Given the description of an element on the screen output the (x, y) to click on. 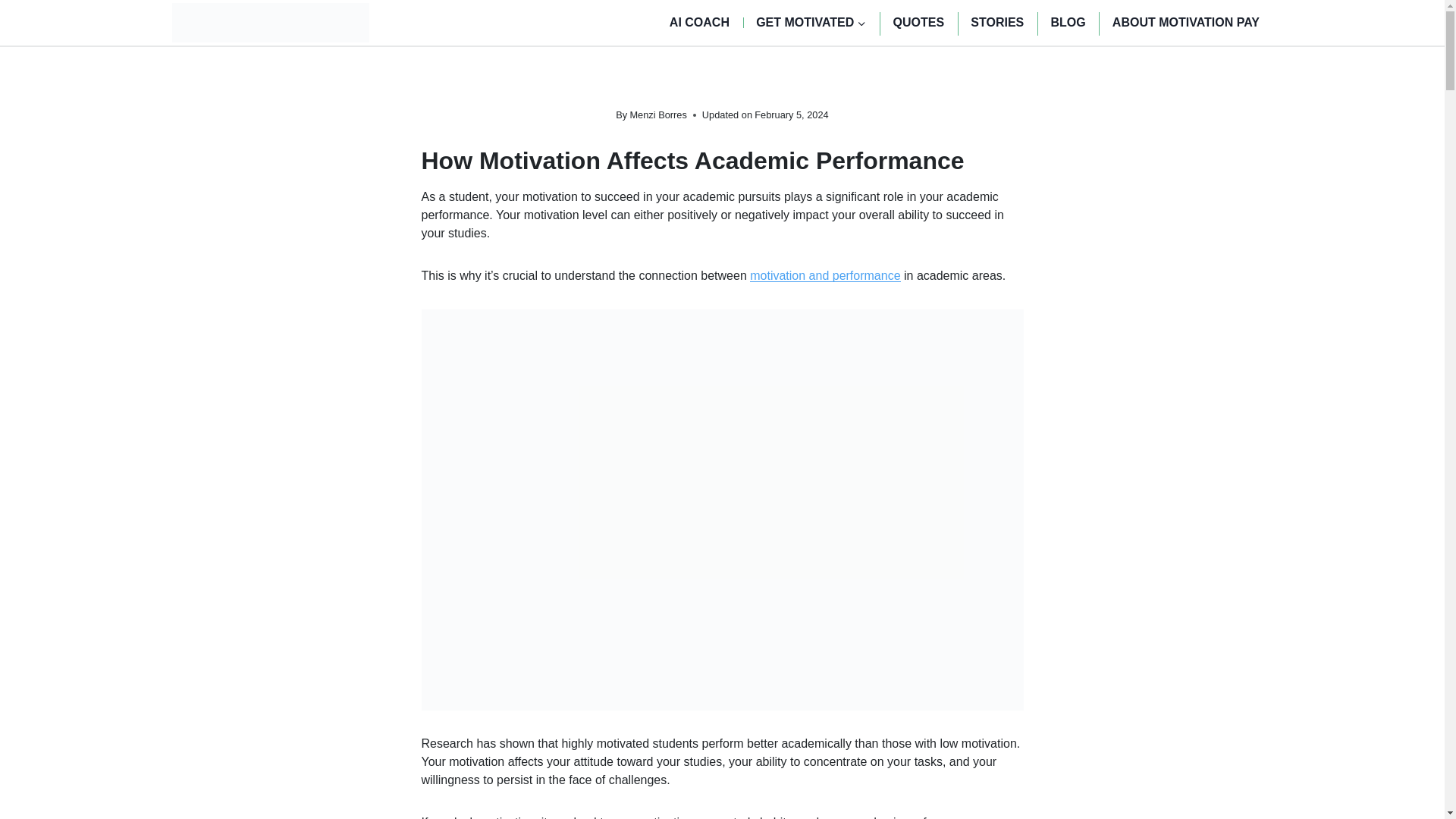
STORIES (997, 22)
BLOG (1067, 22)
motivation and performance (824, 275)
ABOUT MOTIVATION PAY (1185, 22)
AI COACH (699, 22)
GET MOTIVATED (810, 22)
QUOTES (918, 22)
